Given the description of an element on the screen output the (x, y) to click on. 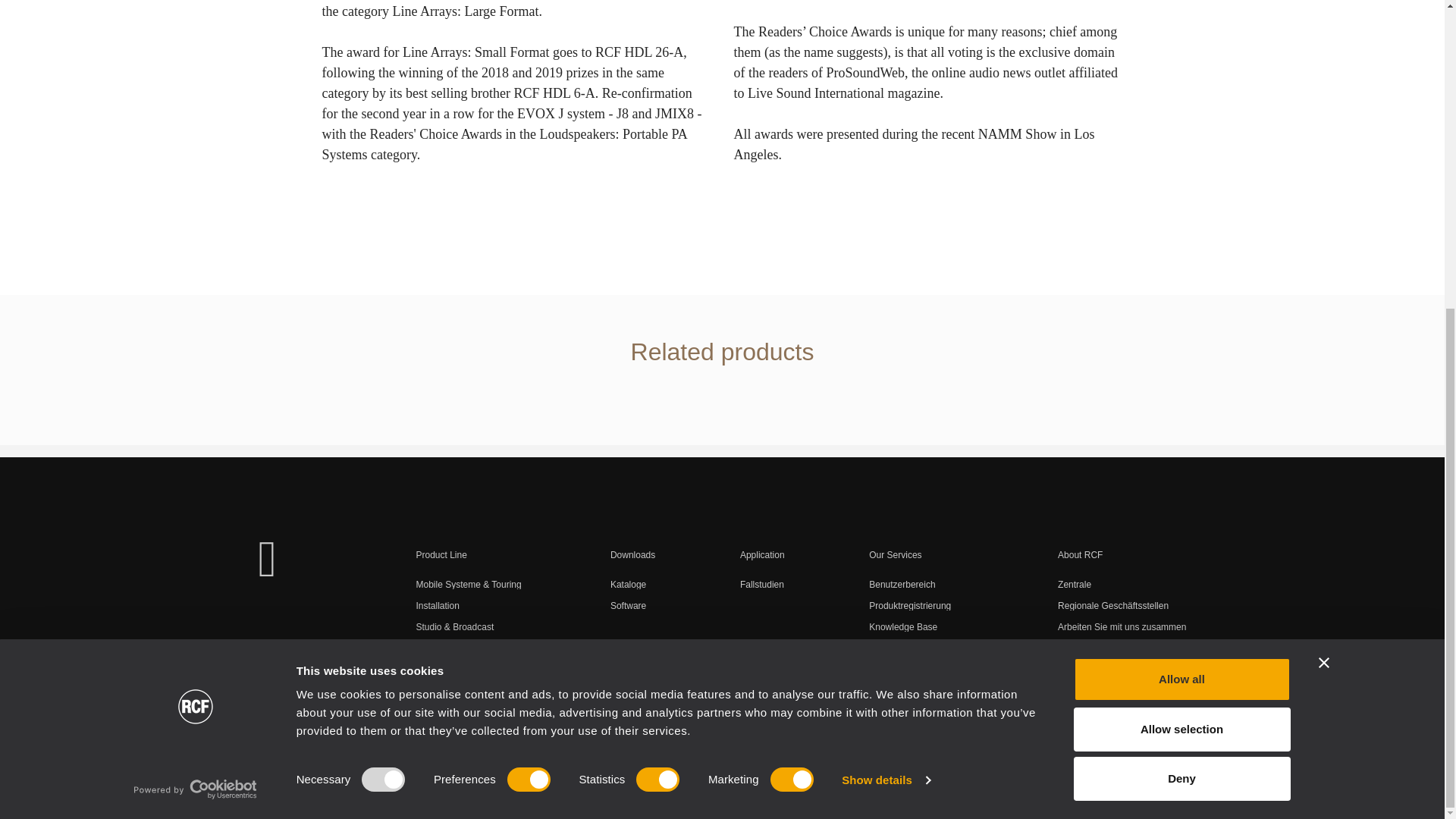
Show details (885, 292)
